Given the description of an element on the screen output the (x, y) to click on. 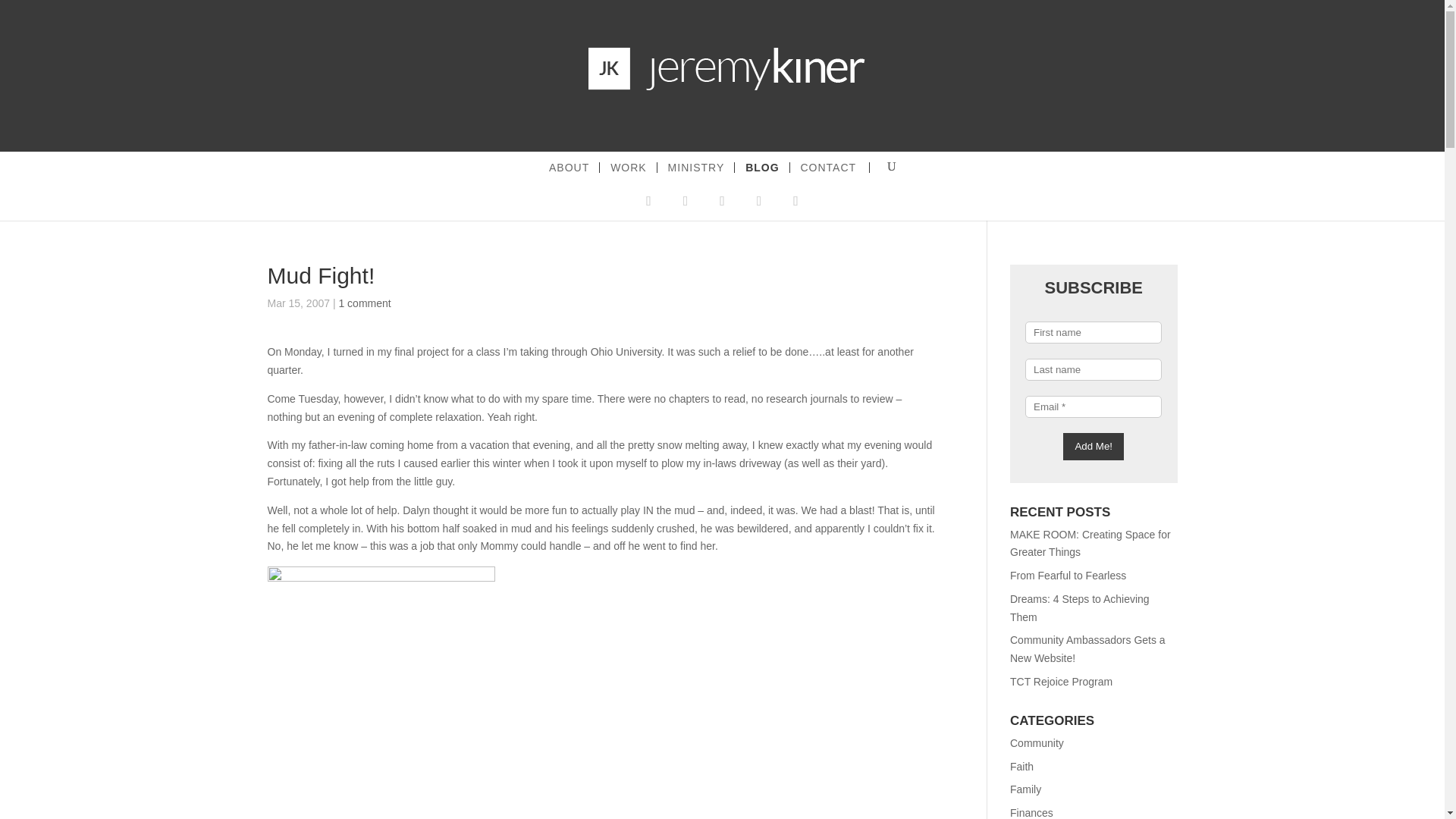
BLOG (763, 167)
From Fearful to Fearless (1067, 575)
WORK (629, 167)
Finances (1031, 812)
Add Me! (1093, 445)
ABOUT (569, 167)
Last name (1093, 368)
Family (1025, 788)
Community Ambassadors Gets a New Website! (1088, 648)
MAKE ROOM: Creating Space for Greater Things (1090, 542)
